Given the description of an element on the screen output the (x, y) to click on. 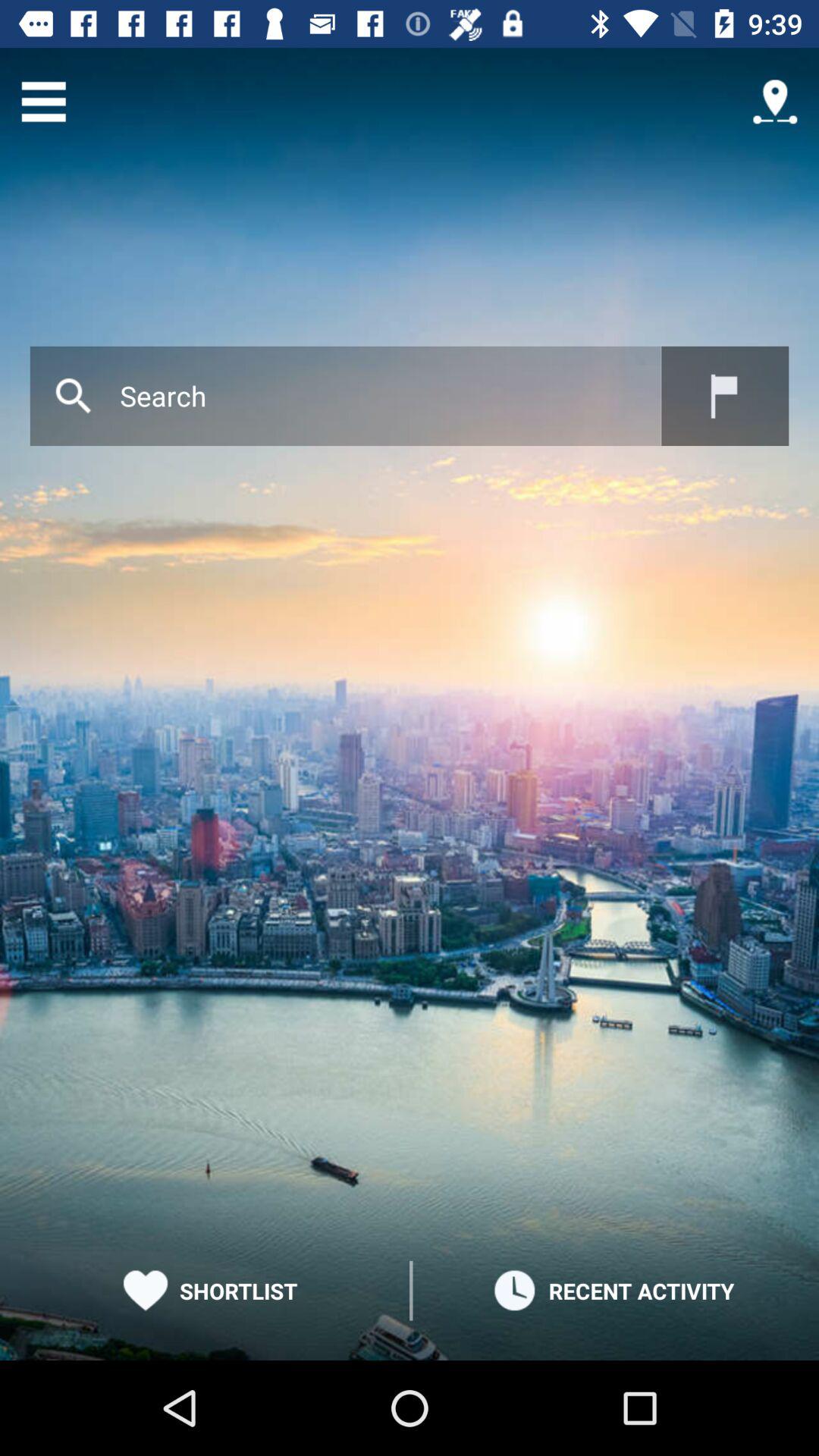
see page options (43, 101)
